Given the description of an element on the screen output the (x, y) to click on. 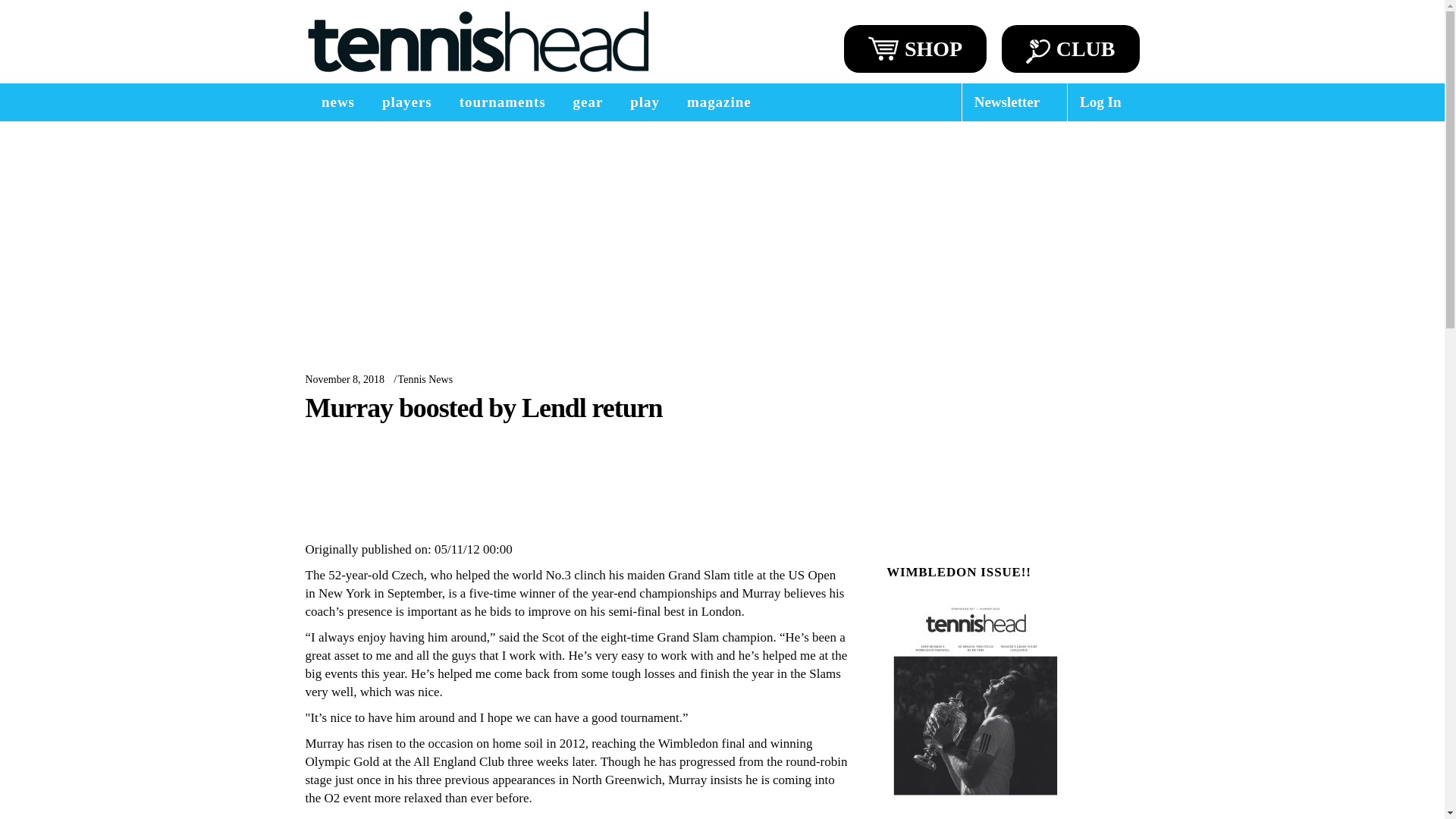
SHOP (915, 48)
gear (588, 102)
play (643, 102)
news (337, 102)
tournaments (502, 102)
CLUB (1070, 48)
players (406, 102)
